Given the description of an element on the screen output the (x, y) to click on. 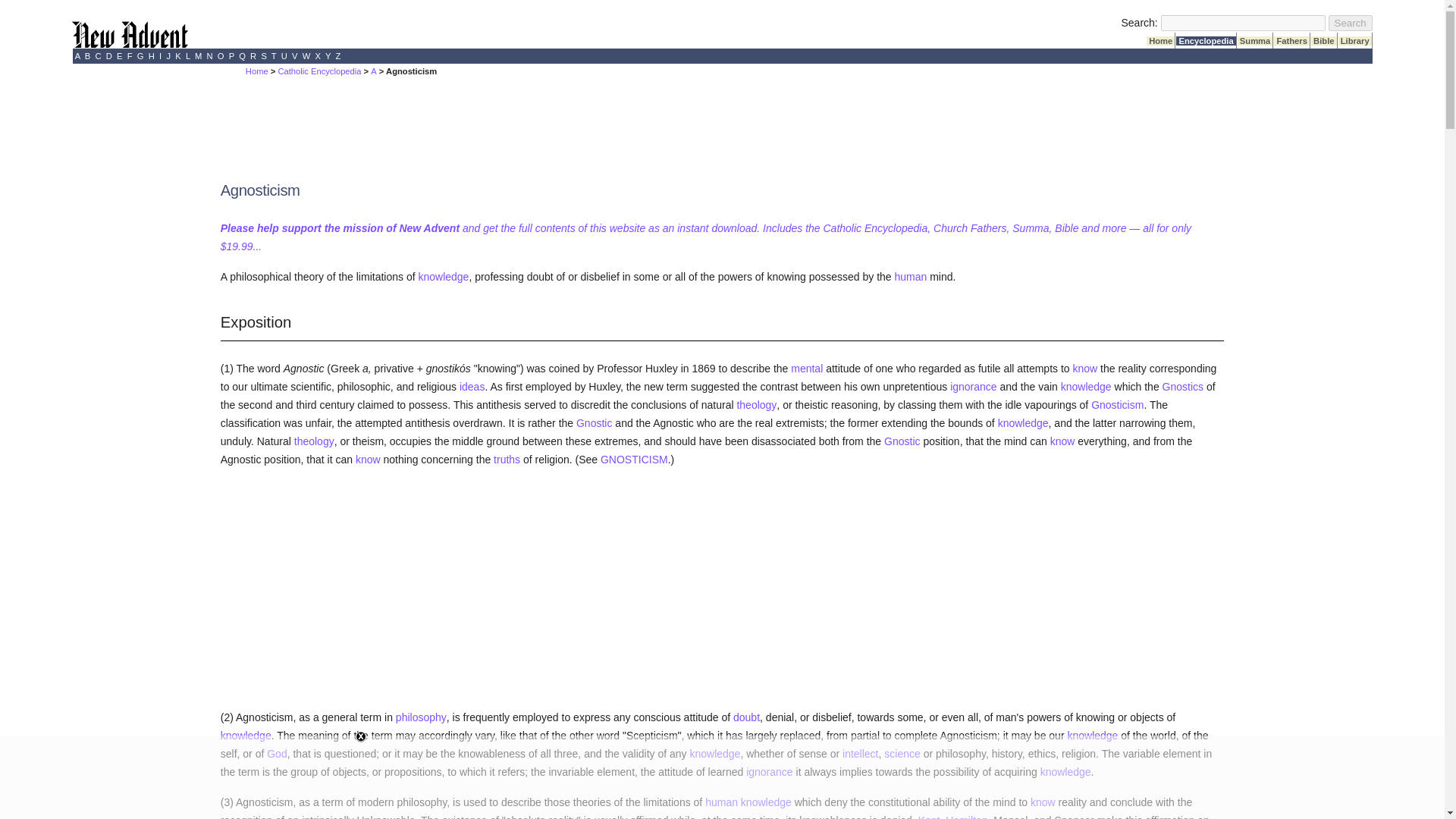
 K  (178, 55)
 Encyclopedia  (1205, 40)
 C  (98, 55)
 G  (141, 55)
 Summa  (1254, 40)
 Library  (1354, 40)
Catholic Encyclopedia (319, 71)
 R  (253, 55)
 T  (274, 55)
 Q  (241, 55)
 E  (120, 55)
 P  (231, 55)
 S  (264, 55)
 B  (87, 55)
 F  (130, 55)
